Given the description of an element on the screen output the (x, y) to click on. 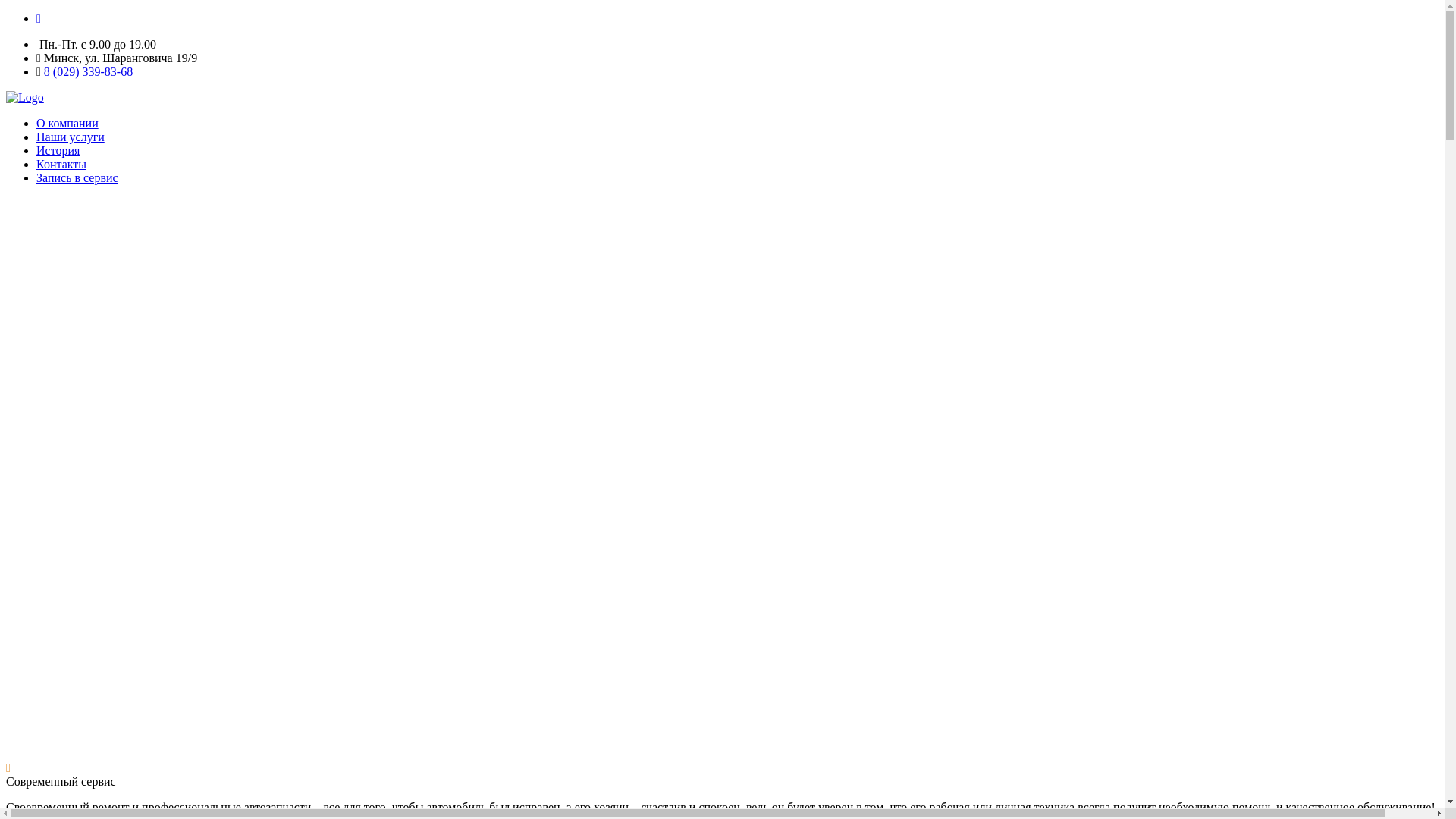
8 (029) 339-83-68 Element type: text (87, 71)
Home Element type: hover (24, 97)
